Given the description of an element on the screen output the (x, y) to click on. 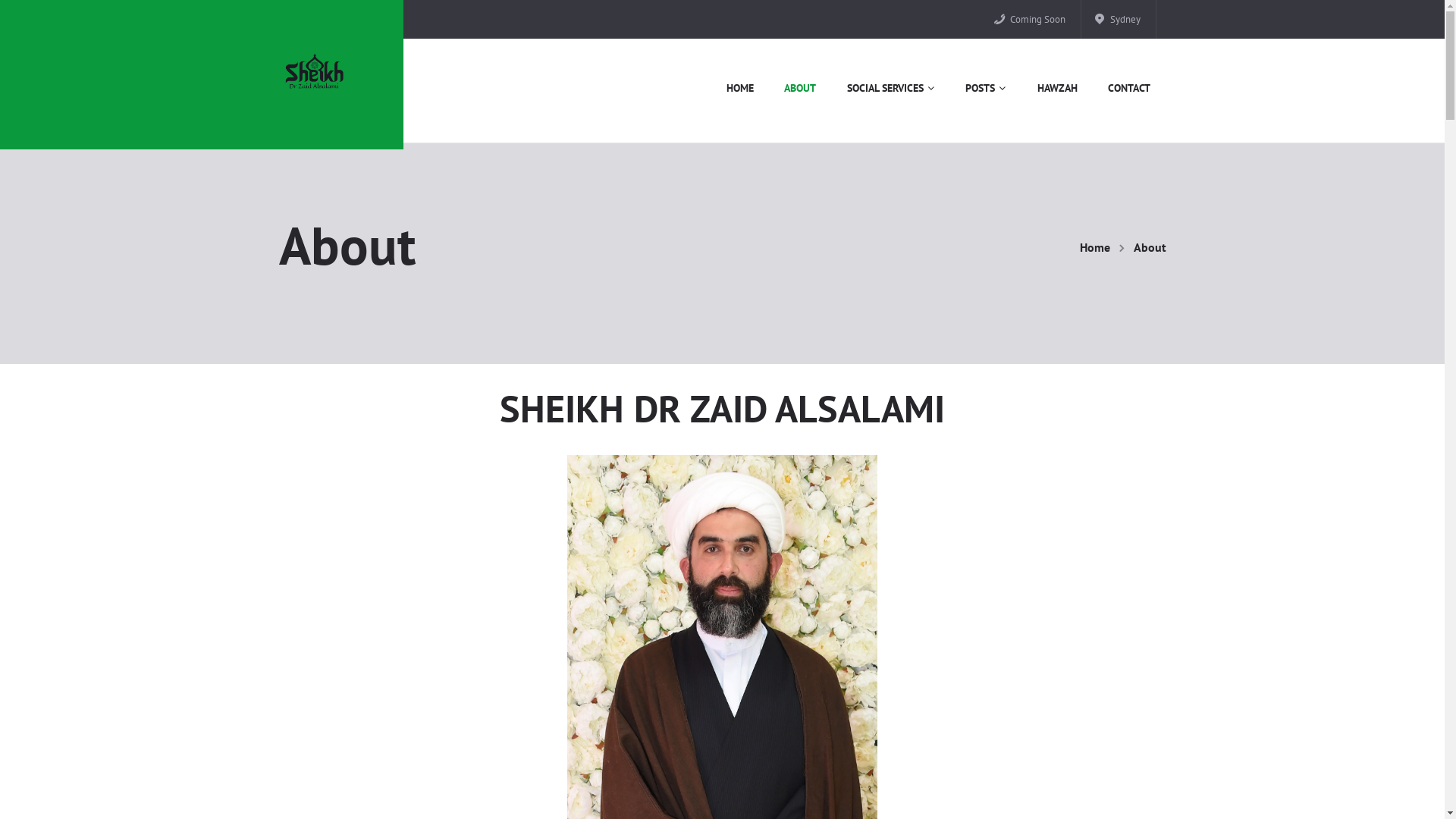
HAWZAH Element type: text (1056, 88)
Home Element type: text (1094, 247)
HOME Element type: text (740, 88)
POSTS Element type: text (985, 88)
SOCIAL SERVICES Element type: text (890, 88)
CONTACT Element type: text (1129, 88)
ABOUT Element type: text (799, 88)
